Given the description of an element on the screen output the (x, y) to click on. 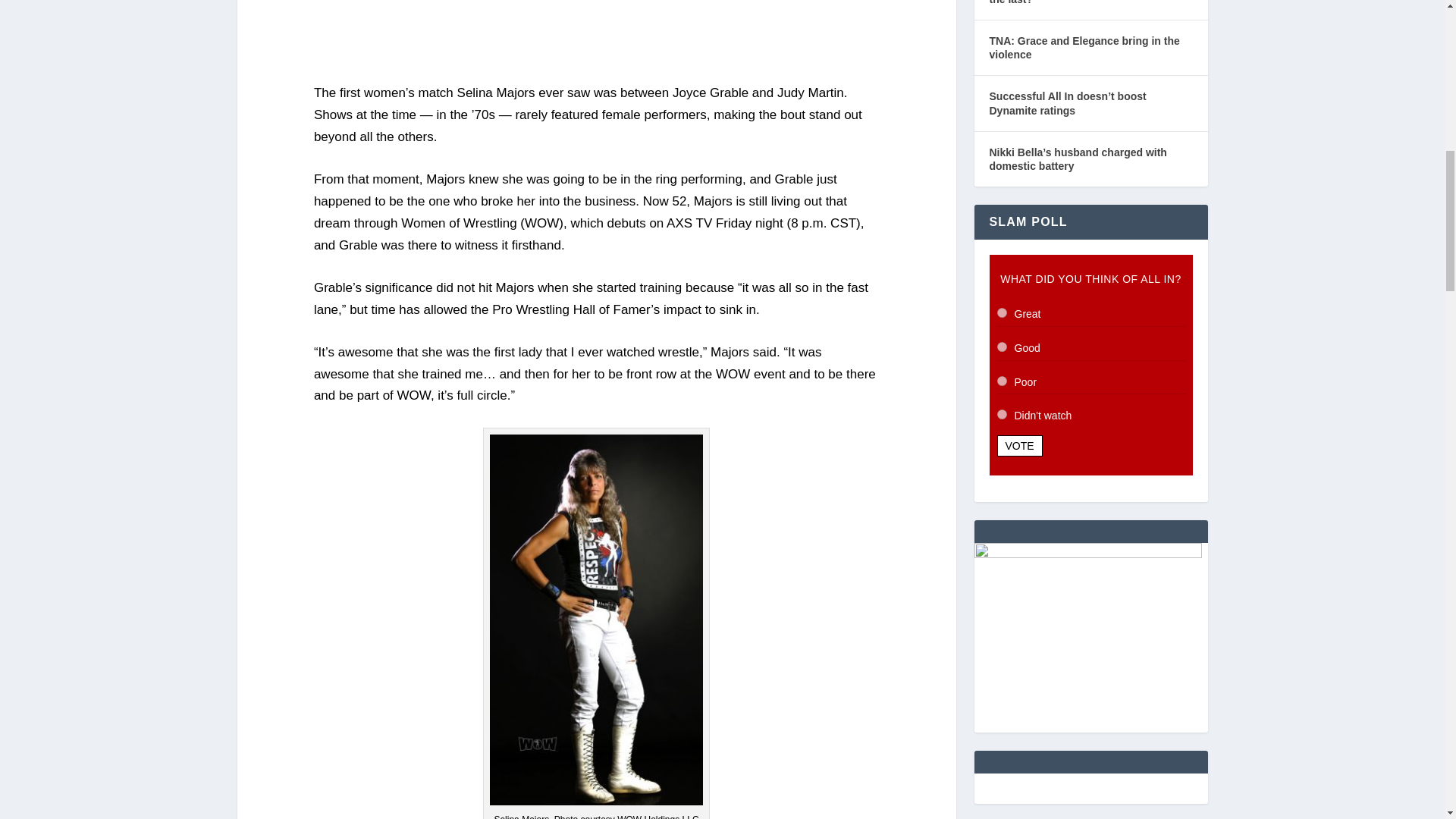
6507 (1000, 347)
6508 (1000, 380)
6506 (1000, 312)
6509 (1000, 414)
